Given the description of an element on the screen output the (x, y) to click on. 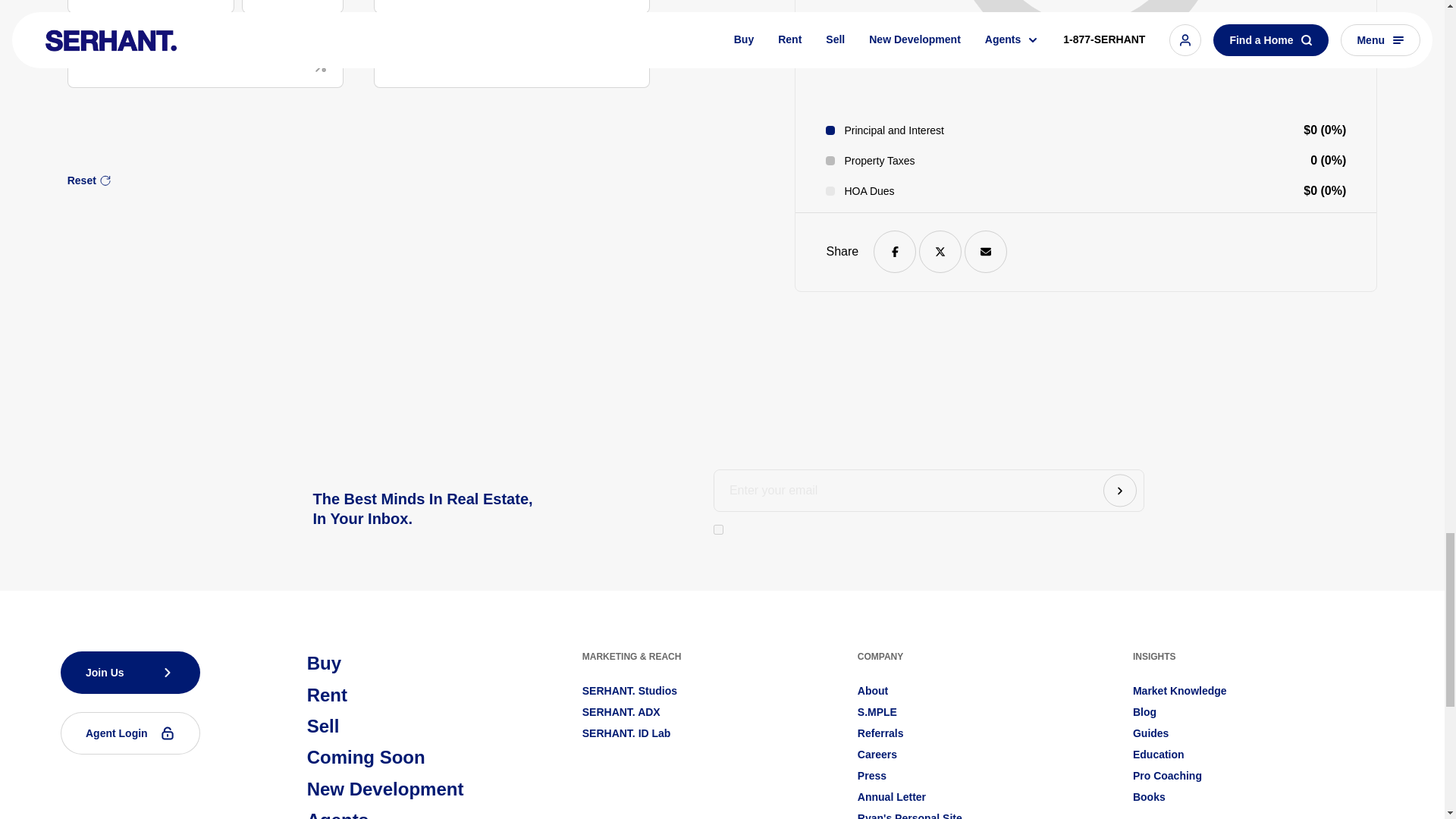
Sell It Pro Coaching (1167, 775)
on (718, 529)
SERHANT. S.MPLE (876, 711)
